Given the description of an element on the screen output the (x, y) to click on. 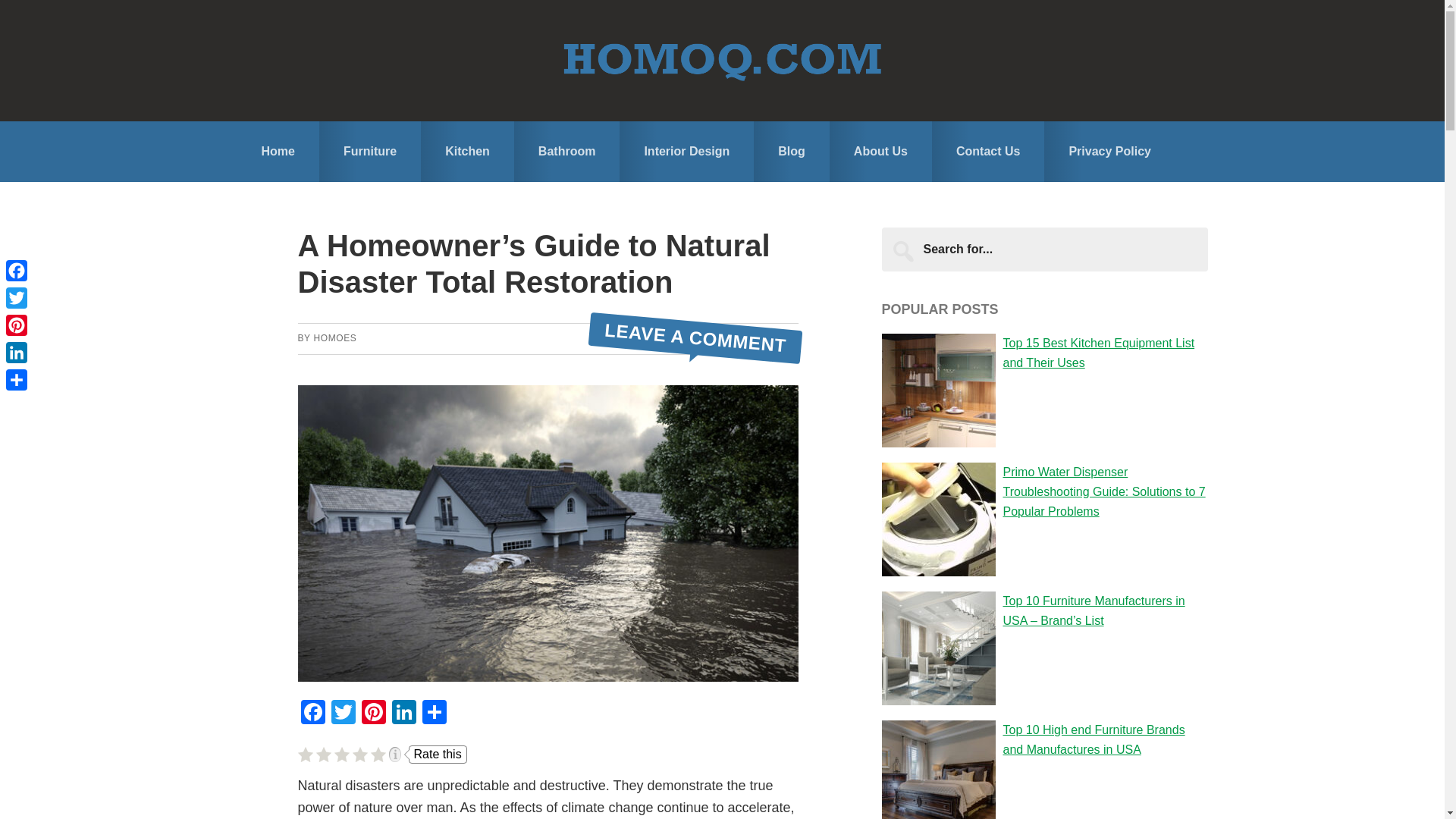
Share (433, 714)
LinkedIn (403, 714)
Blog (791, 151)
About Us (880, 151)
Contact Us (987, 151)
Twitter (342, 714)
HOMOES (334, 337)
Twitter (16, 298)
Pinterest (373, 714)
Pinterest (373, 714)
Facebook (312, 714)
Facebook (16, 270)
Bathroom (566, 151)
Facebook (312, 714)
LinkedIn (403, 714)
